Given the description of an element on the screen output the (x, y) to click on. 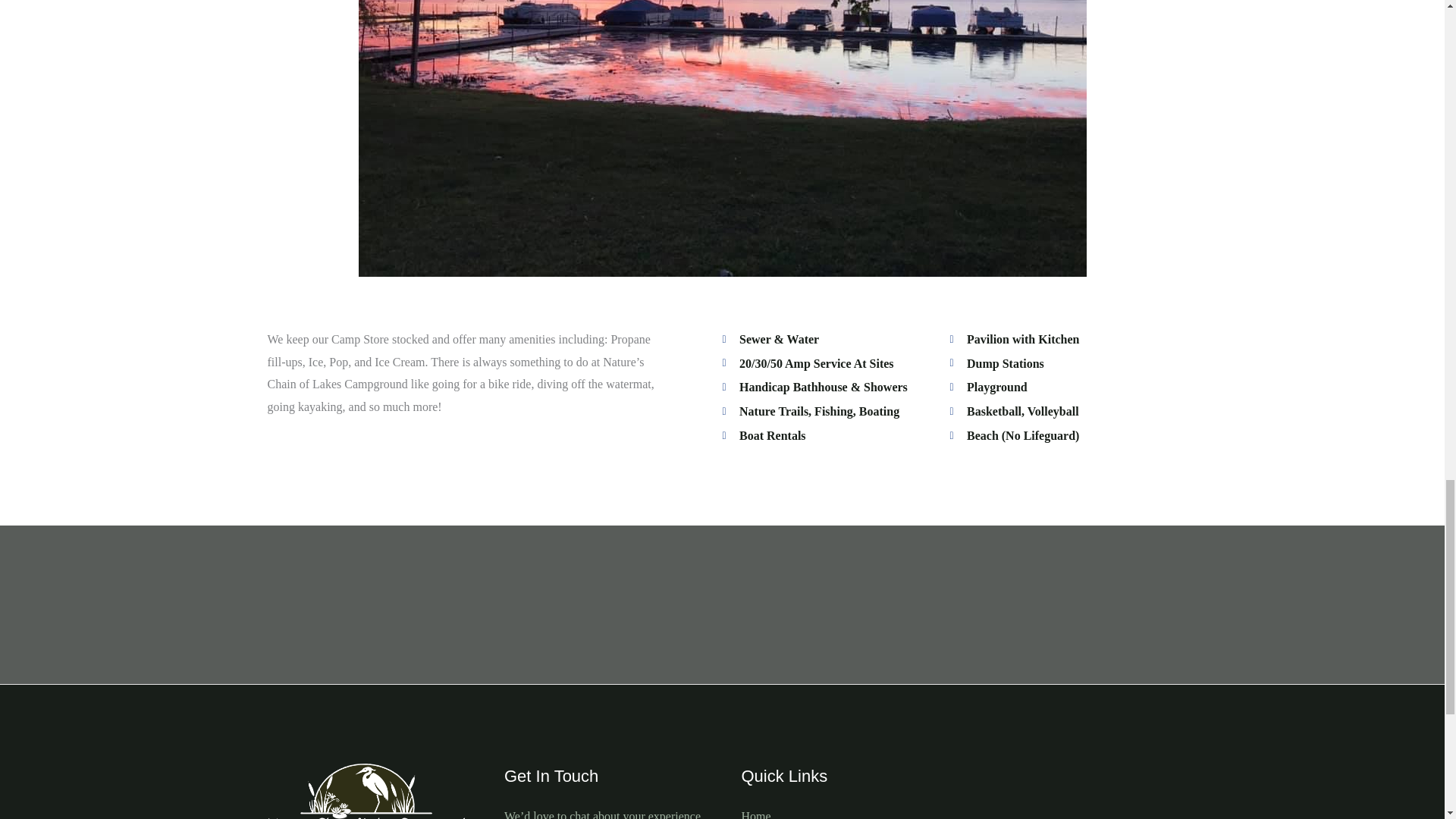
Home (756, 814)
